Given the description of an element on the screen output the (x, y) to click on. 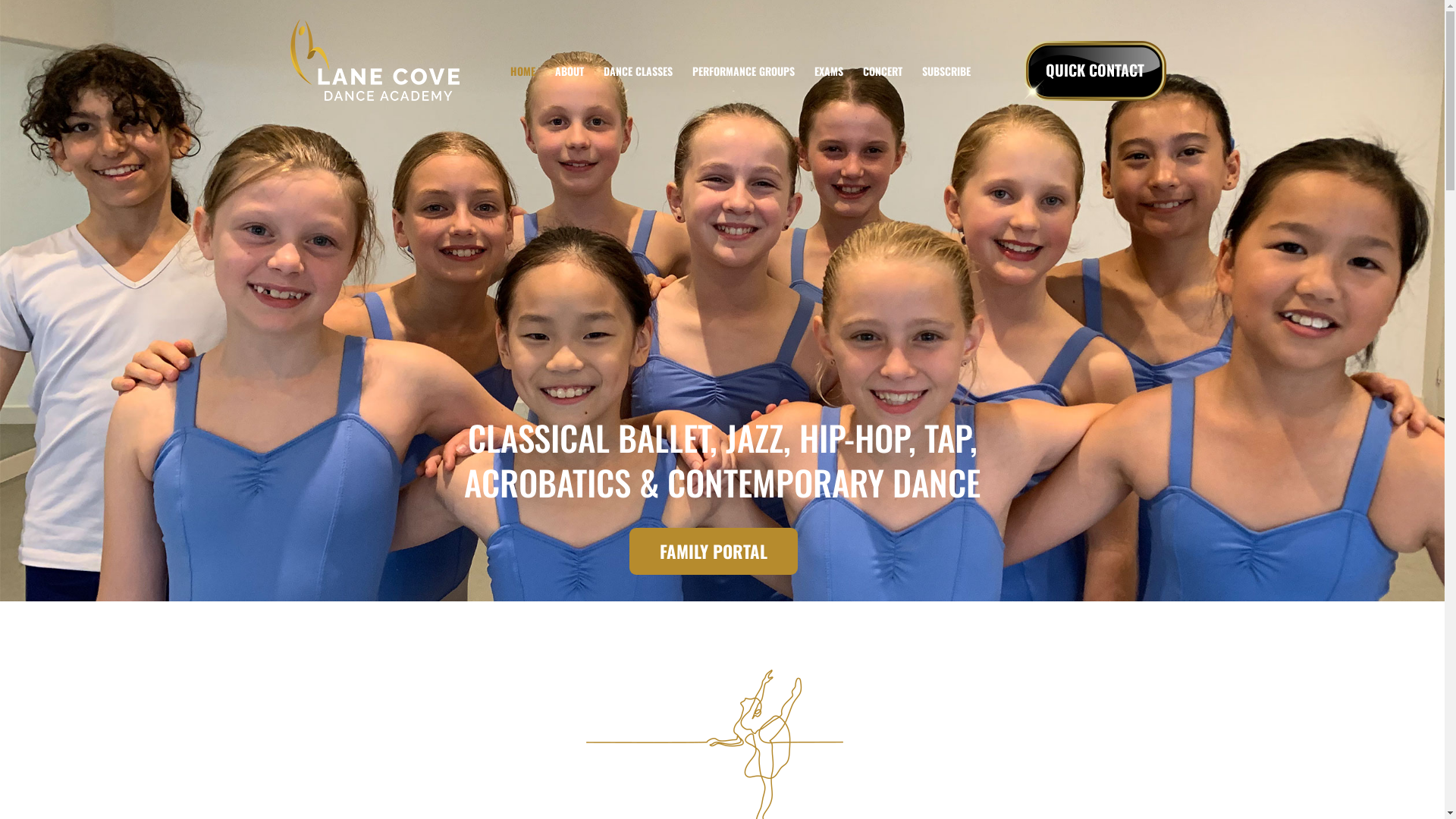
FAMILY PORTAL Element type: text (713, 550)
DANCE CLASSES Element type: text (637, 70)
PERFORMANCE GROUPS Element type: text (743, 70)
QUICK CONTACT Element type: text (1094, 70)
HOME Element type: text (522, 70)
ABOUT Element type: text (569, 70)
CONCERT Element type: text (882, 70)
EXAMS Element type: text (828, 70)
SUBSCRIBE Element type: text (946, 70)
